Given the description of an element on the screen output the (x, y) to click on. 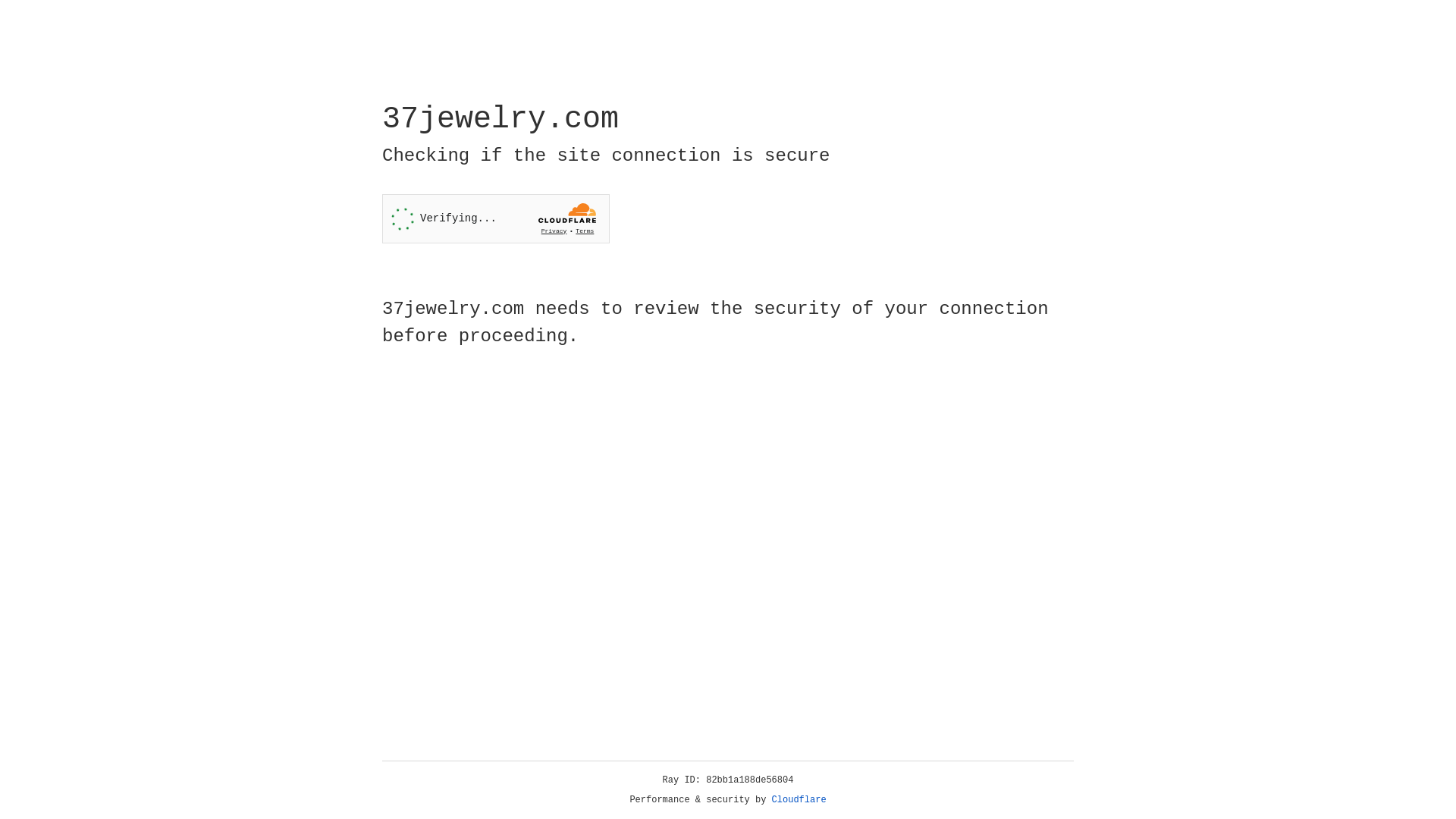
Widget containing a Cloudflare security challenge Element type: hover (495, 218)
Cloudflare Element type: text (798, 799)
